Given the description of an element on the screen output the (x, y) to click on. 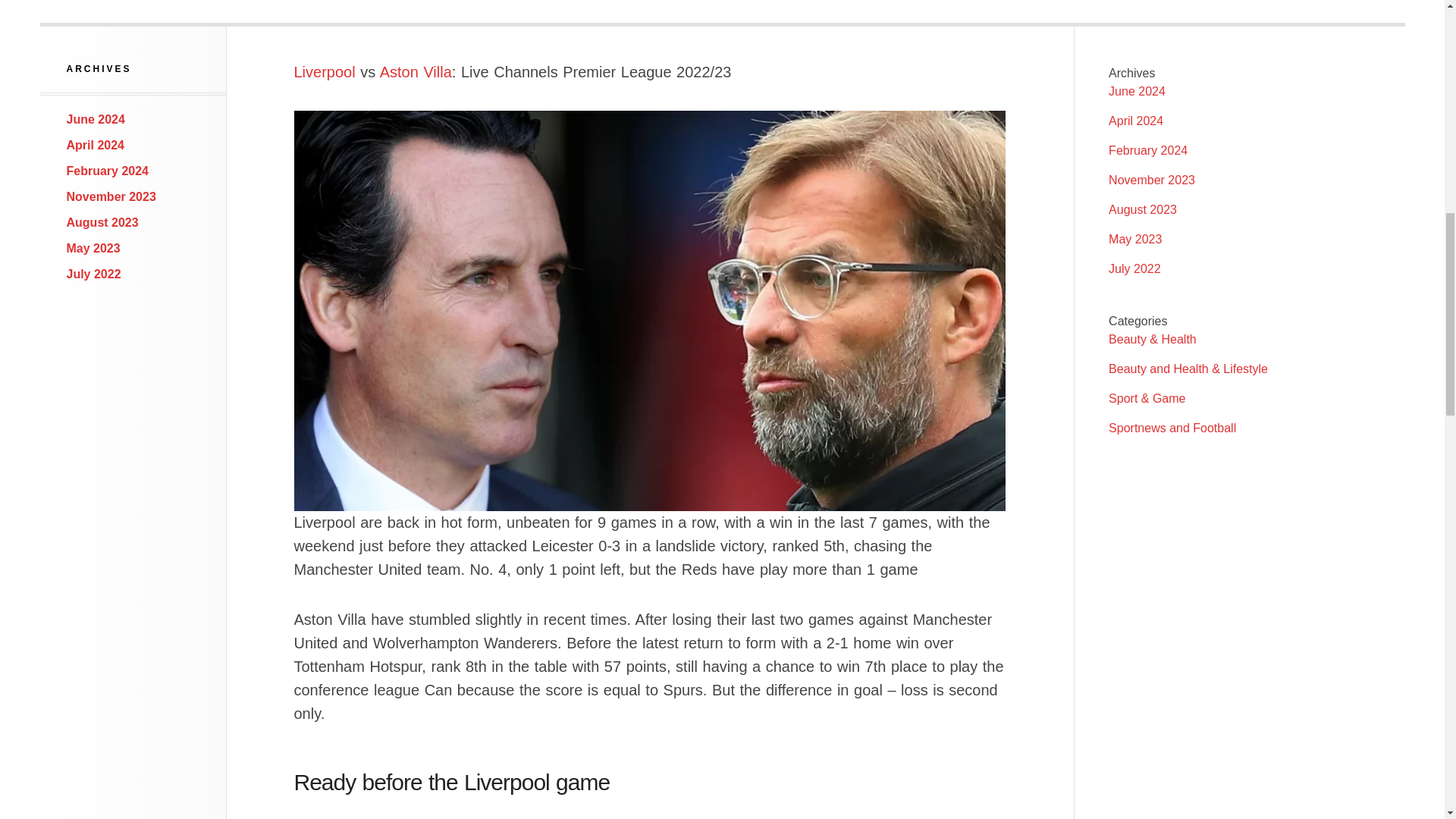
Liverpool (324, 71)
August 2023 (102, 222)
June 2024 (95, 119)
February 2024 (107, 170)
July 2022 (93, 273)
May 2023 (93, 247)
April 2024 (94, 144)
Aston Villa (415, 71)
November 2023 (110, 196)
